Given the description of an element on the screen output the (x, y) to click on. 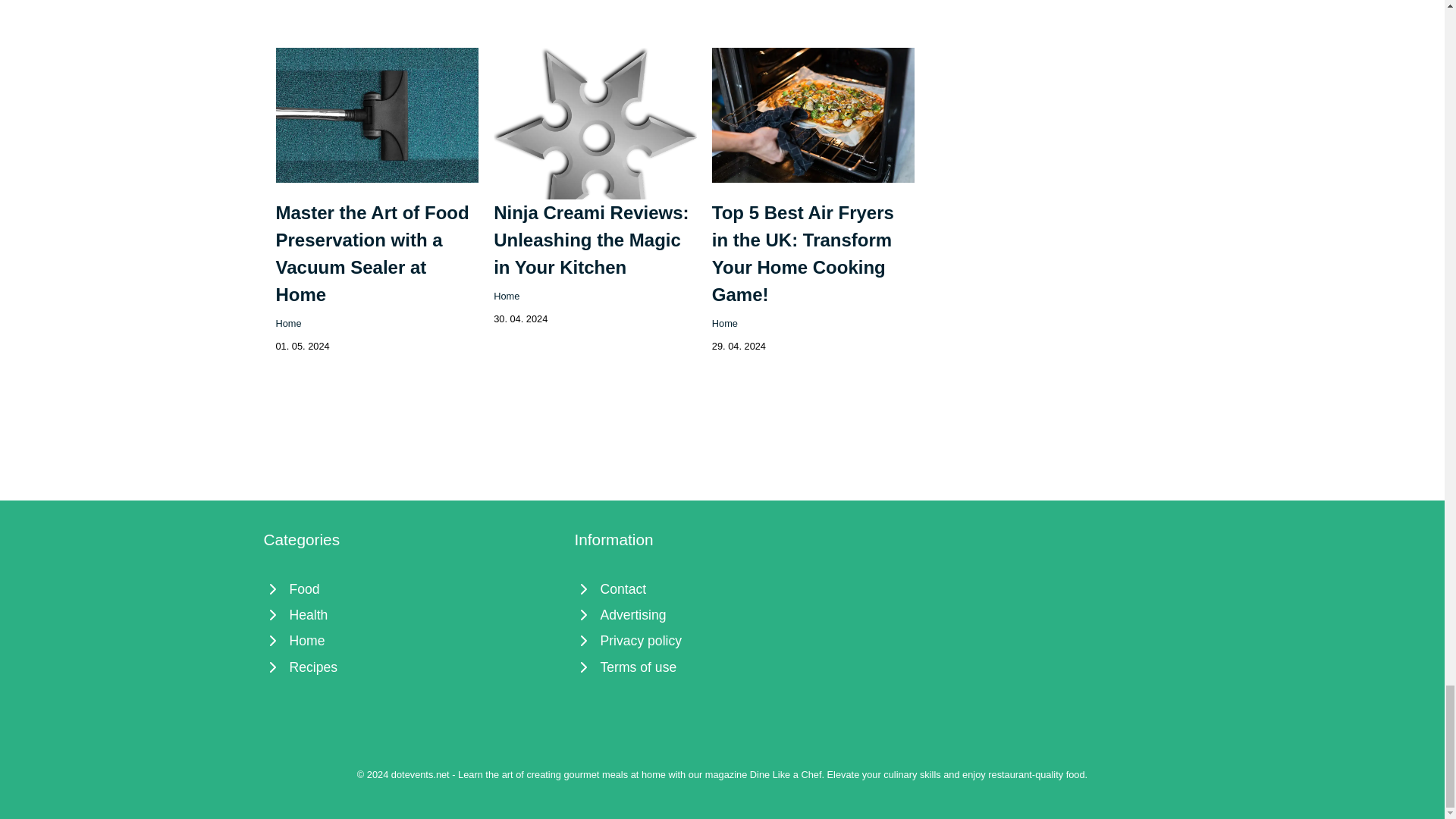
Home (288, 323)
Privacy policy (722, 640)
Recipes (411, 667)
Contact (722, 588)
Home (724, 323)
Advertising (722, 614)
Health (411, 614)
Home (506, 296)
Terms of use (722, 667)
Food (411, 588)
Home (411, 640)
Ninja Creami Reviews: Unleashing the Magic in Your Kitchen (590, 239)
